Given the description of an element on the screen output the (x, y) to click on. 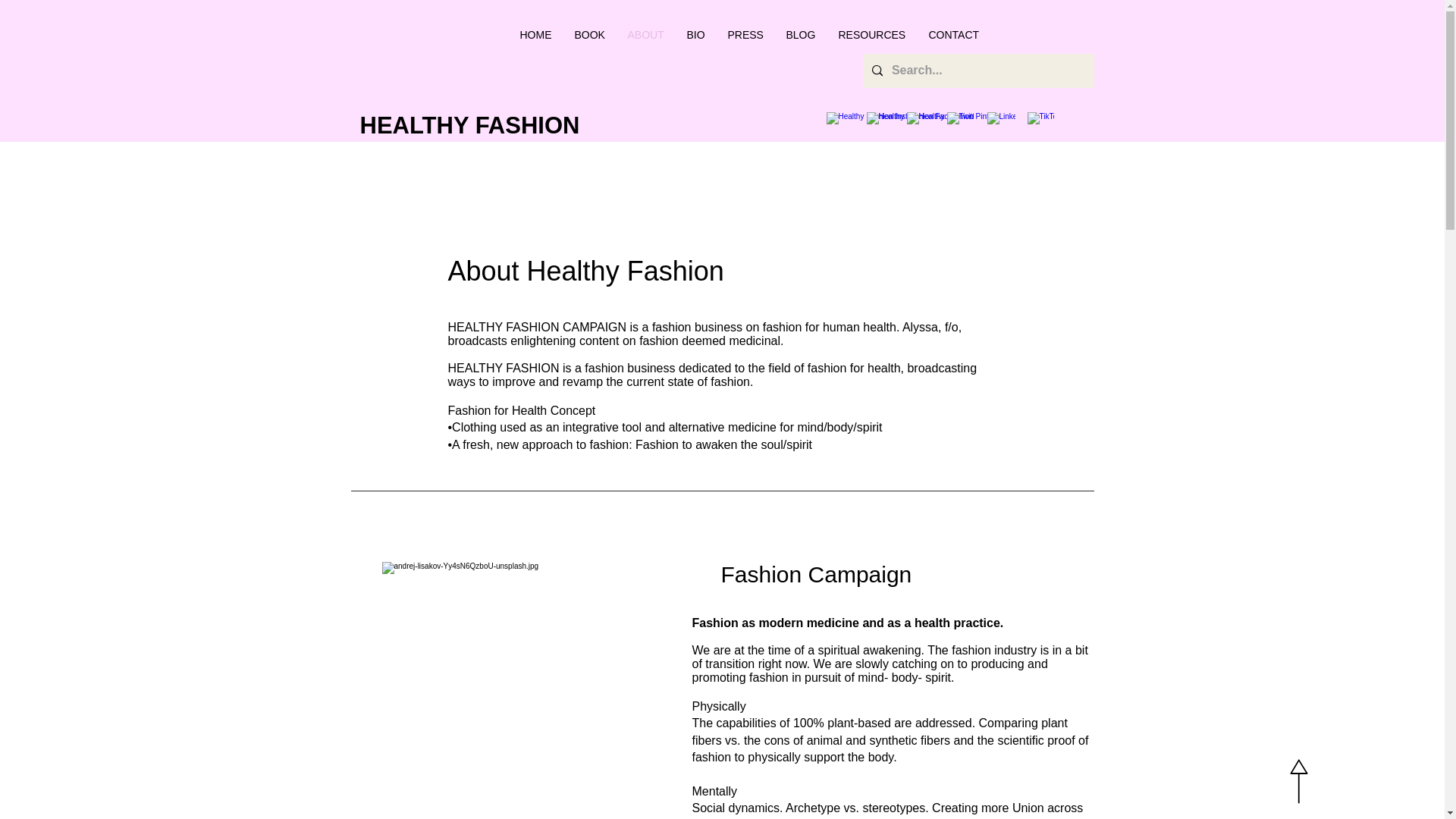
BIO (695, 34)
BLOG (800, 34)
RESOURCES (872, 34)
CONTACT (954, 34)
PRESS (745, 34)
BOOK (588, 34)
HOME (535, 34)
ABOUT (645, 34)
